Given the description of an element on the screen output the (x, y) to click on. 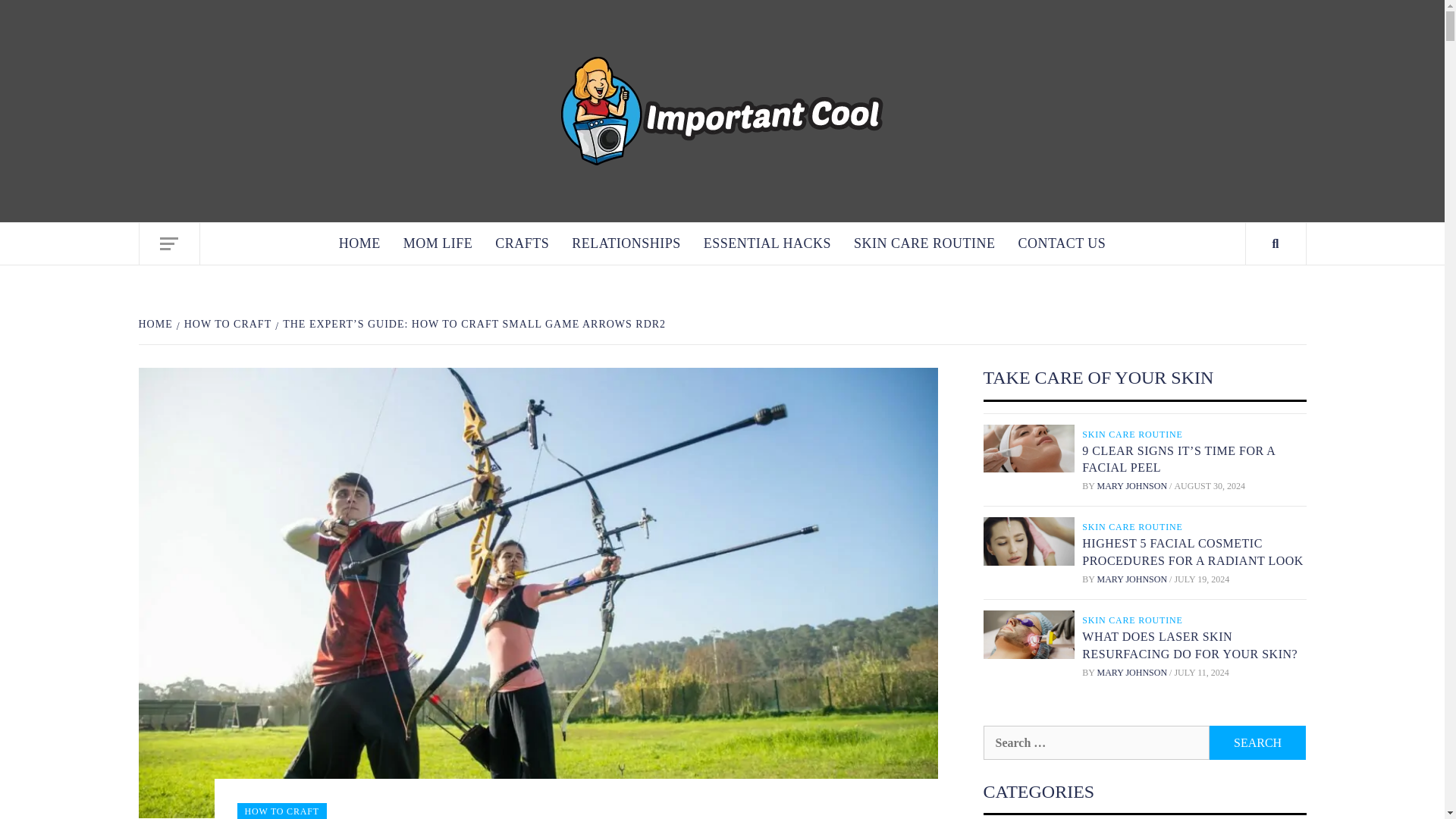
WHAT DOES LASER SKIN RESURFACING DO FOR YOUR SKIN? (1189, 644)
HIGHEST 5 FACIAL COSMETIC PROCEDURES FOR A RADIANT LOOK (1192, 551)
SKIN CARE ROUTINE (1133, 433)
HOME (359, 243)
CRAFTS (521, 243)
MARY JOHNSON (1133, 579)
RELATIONSHIPS (626, 243)
CONTACT US (1062, 243)
HOW TO CRAFT (225, 324)
Search (1257, 742)
